Given the description of an element on the screen output the (x, y) to click on. 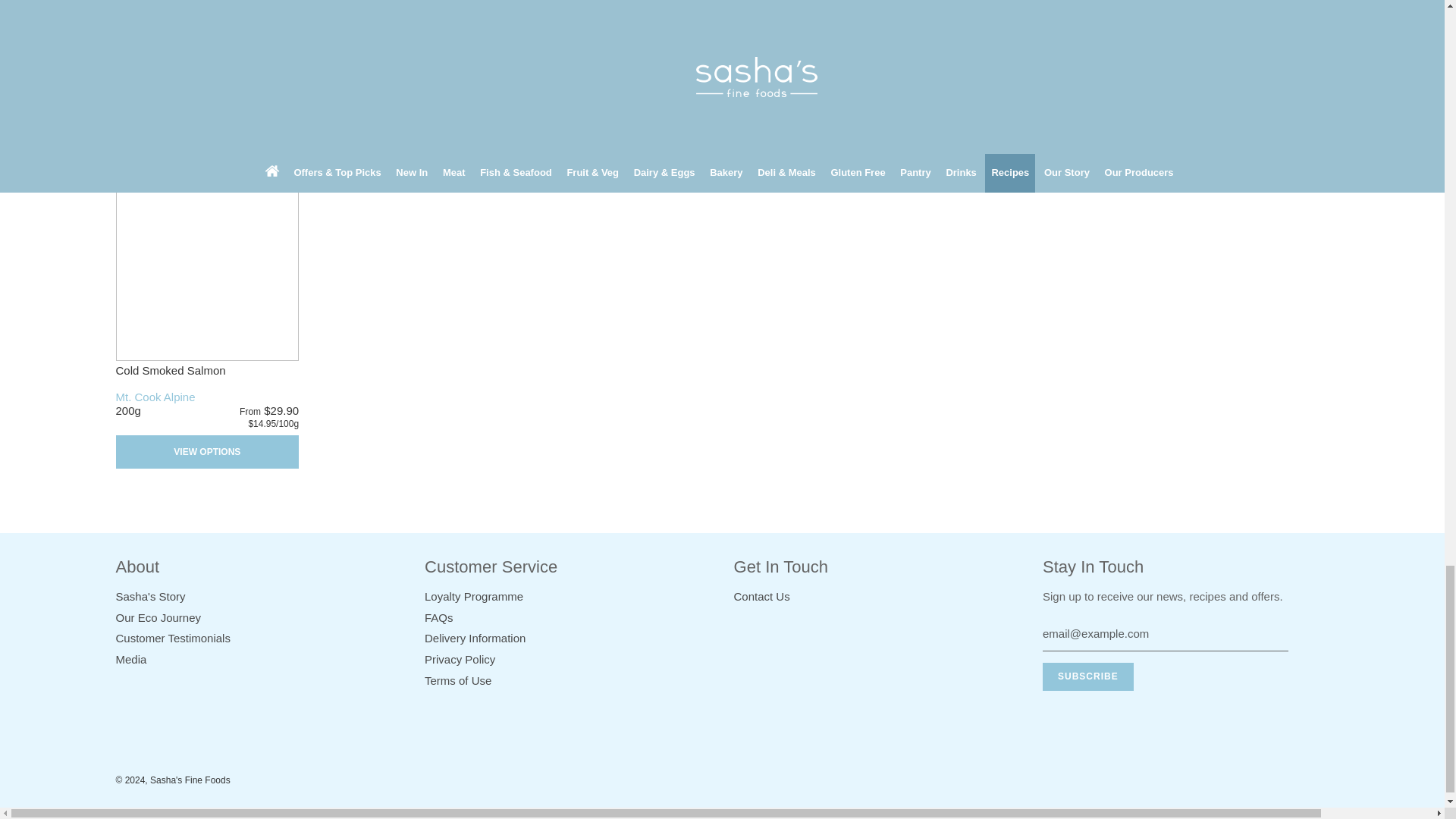
Mt. Cook Alpine (772, 76)
Mt. Cook Alpine (567, 76)
Salmon Whole Side Skin-On (619, 20)
Hot Smoked Salmon, 180g (1030, 20)
Salmon Portions Skin On, Twin Pack (206, 20)
Mt. Cook Alpine (155, 76)
Salmon Portions Skinless, Twin Pack (413, 20)
Salmon Portion Skin-On, Individual (825, 20)
Subscribe (1088, 676)
Mt. Cook Alpine (361, 76)
Mt. Cook Alpine (1185, 76)
Salmon Pieces (1237, 20)
Mt. Cook Alpine (979, 76)
